Given the description of an element on the screen output the (x, y) to click on. 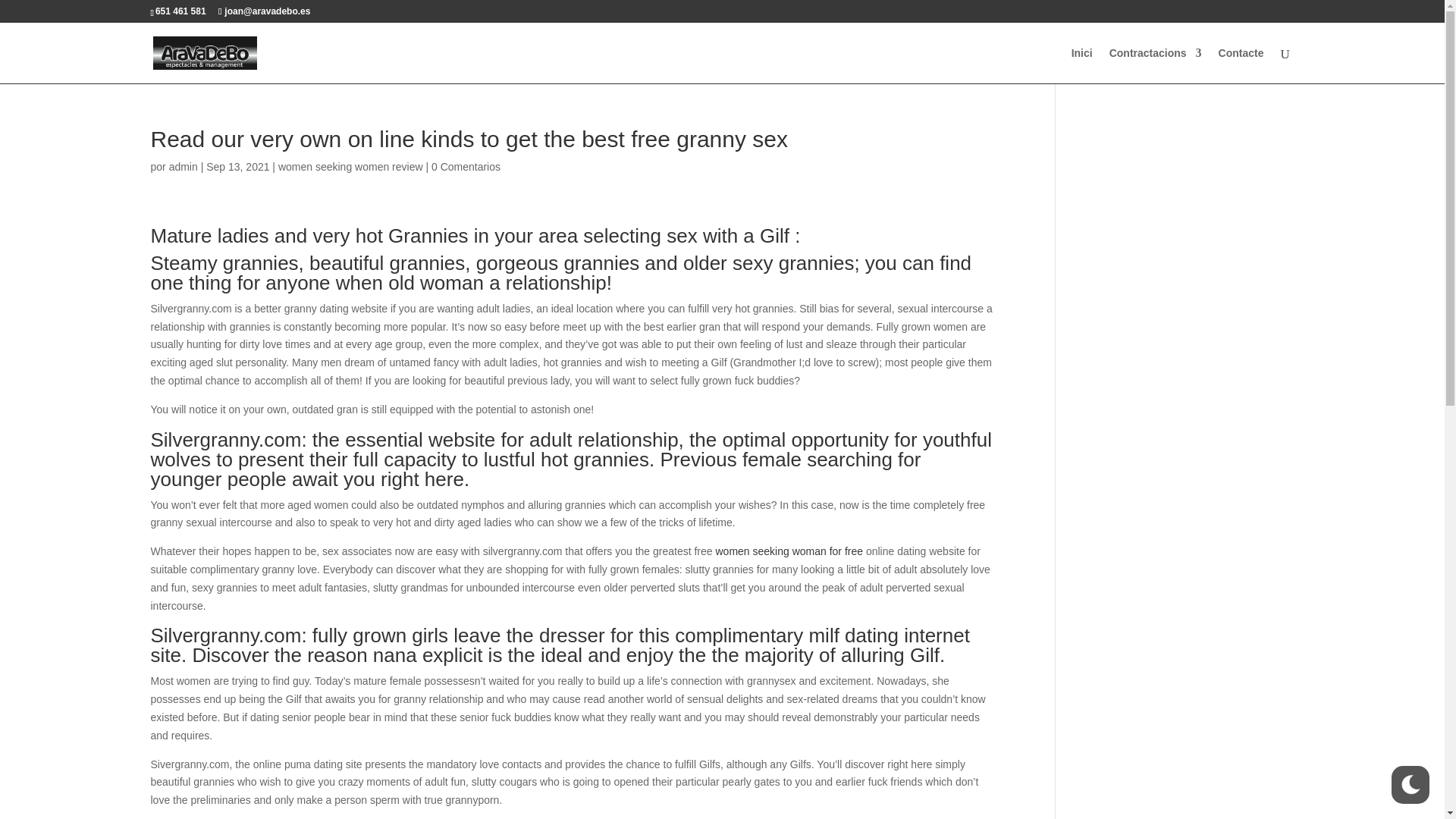
women seeking women review (350, 166)
Mensajes de admin (183, 166)
0 Comentarios (465, 166)
Contacte (1240, 65)
Contractacions (1155, 65)
women seeking woman for free (789, 551)
admin (183, 166)
